Given the description of an element on the screen output the (x, y) to click on. 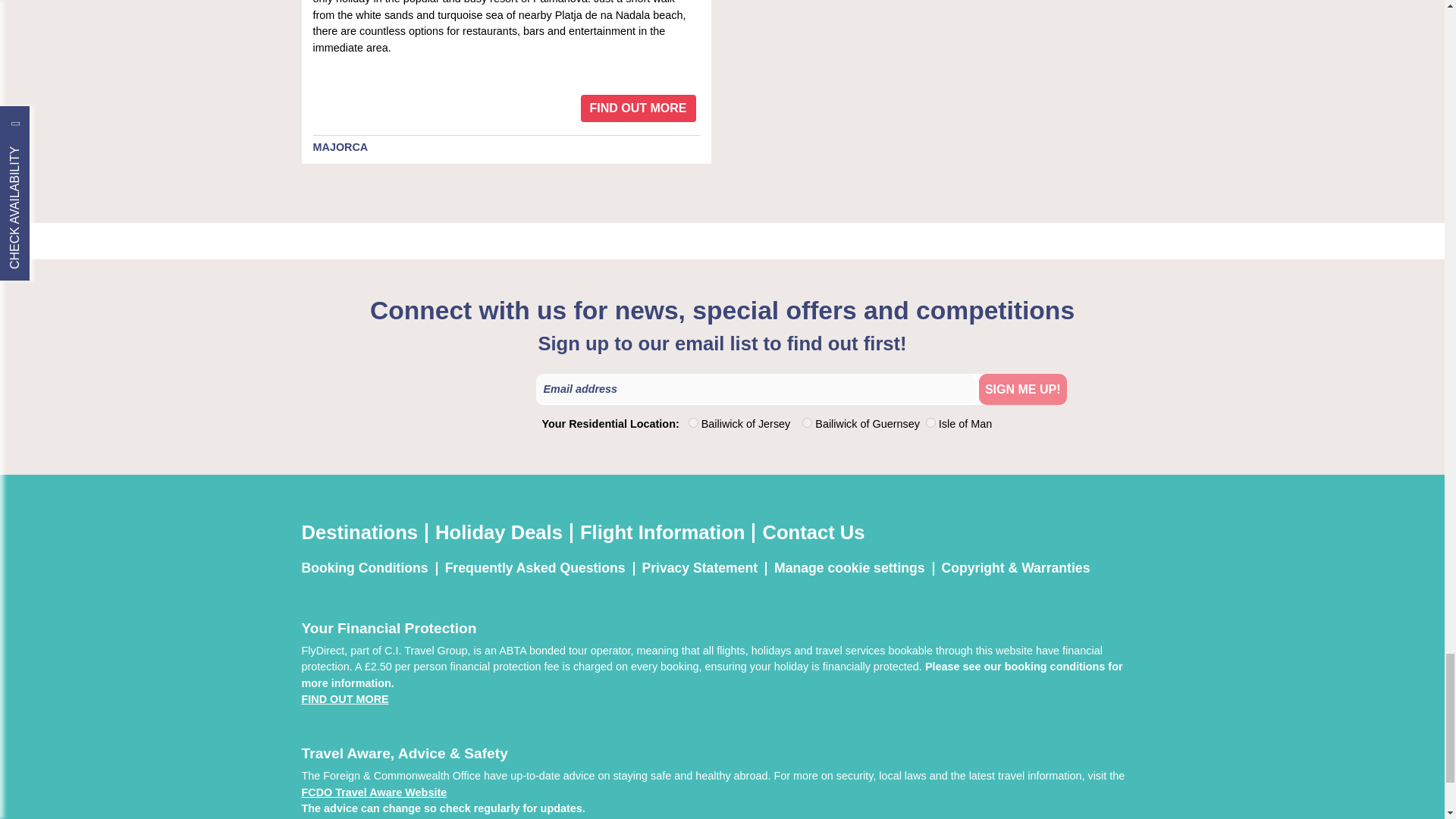
FCDO Travel Aware Website (373, 792)
Email address (755, 388)
Isle of Man (931, 422)
Bailiwick of Guernsey (807, 422)
Sign me up! (1022, 388)
Bailiwick of Jersey (693, 422)
